Given the description of an element on the screen output the (x, y) to click on. 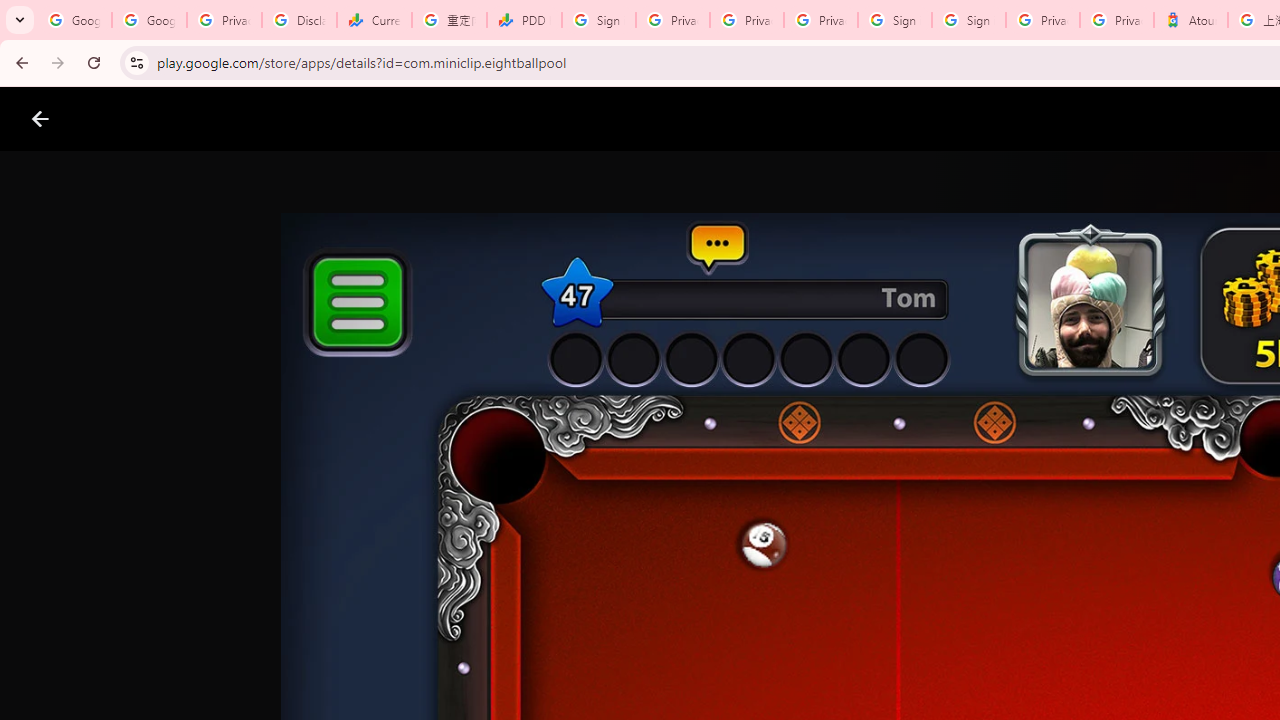
Currencies - Google Finance (374, 20)
Apps (321, 119)
More info about this content rating (1013, 678)
Content rating (973, 656)
Sign in - Google Accounts (968, 20)
Close screenshot viewer (39, 119)
PDD Holdings Inc - ADR (PDD) Price & News - Google Finance (523, 20)
